Given the description of an element on the screen output the (x, y) to click on. 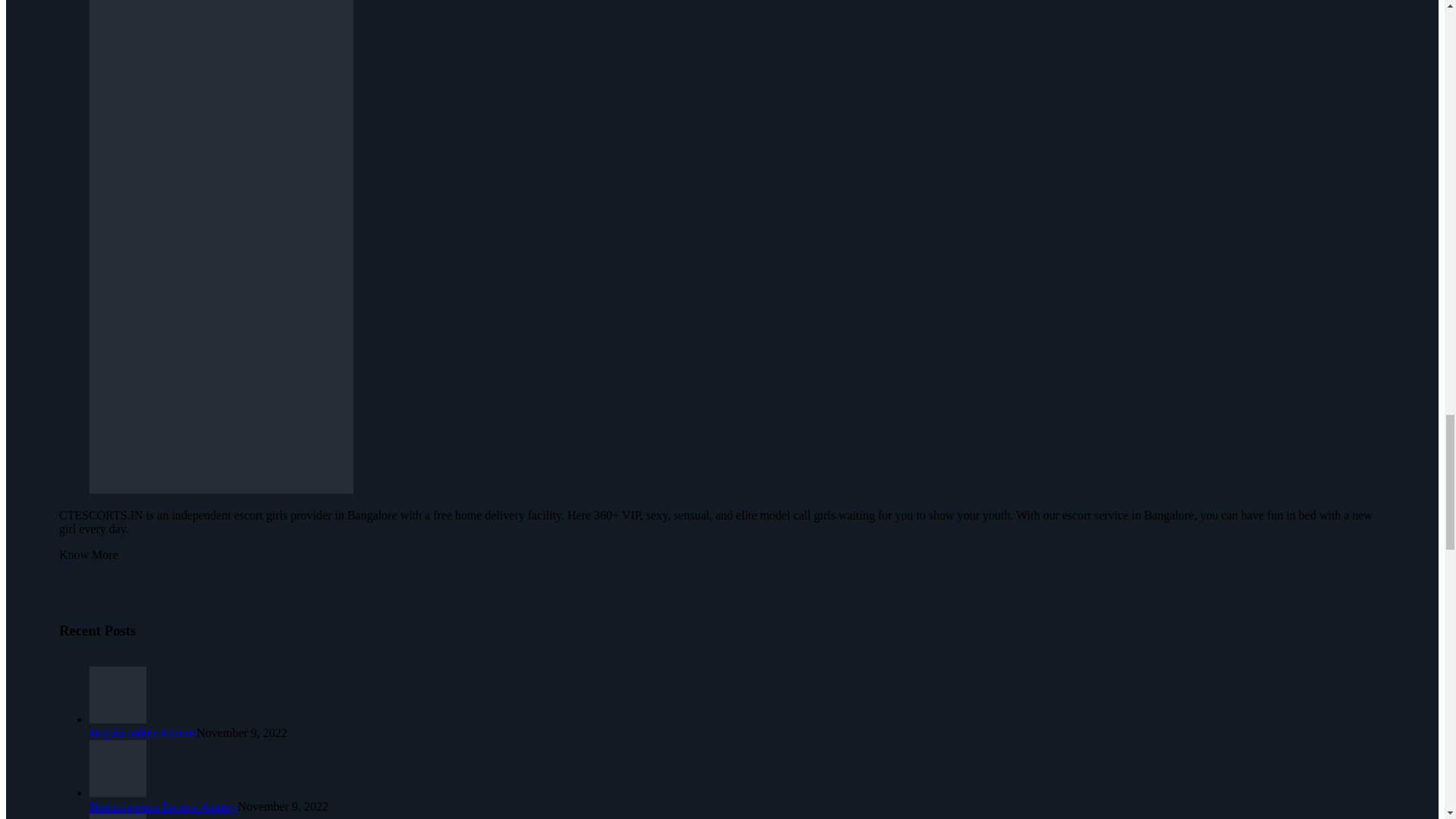
Hejjala online Escorts (142, 732)
Know More (88, 554)
Hemmigepura Escorts Agency (163, 806)
